Given the description of an element on the screen output the (x, y) to click on. 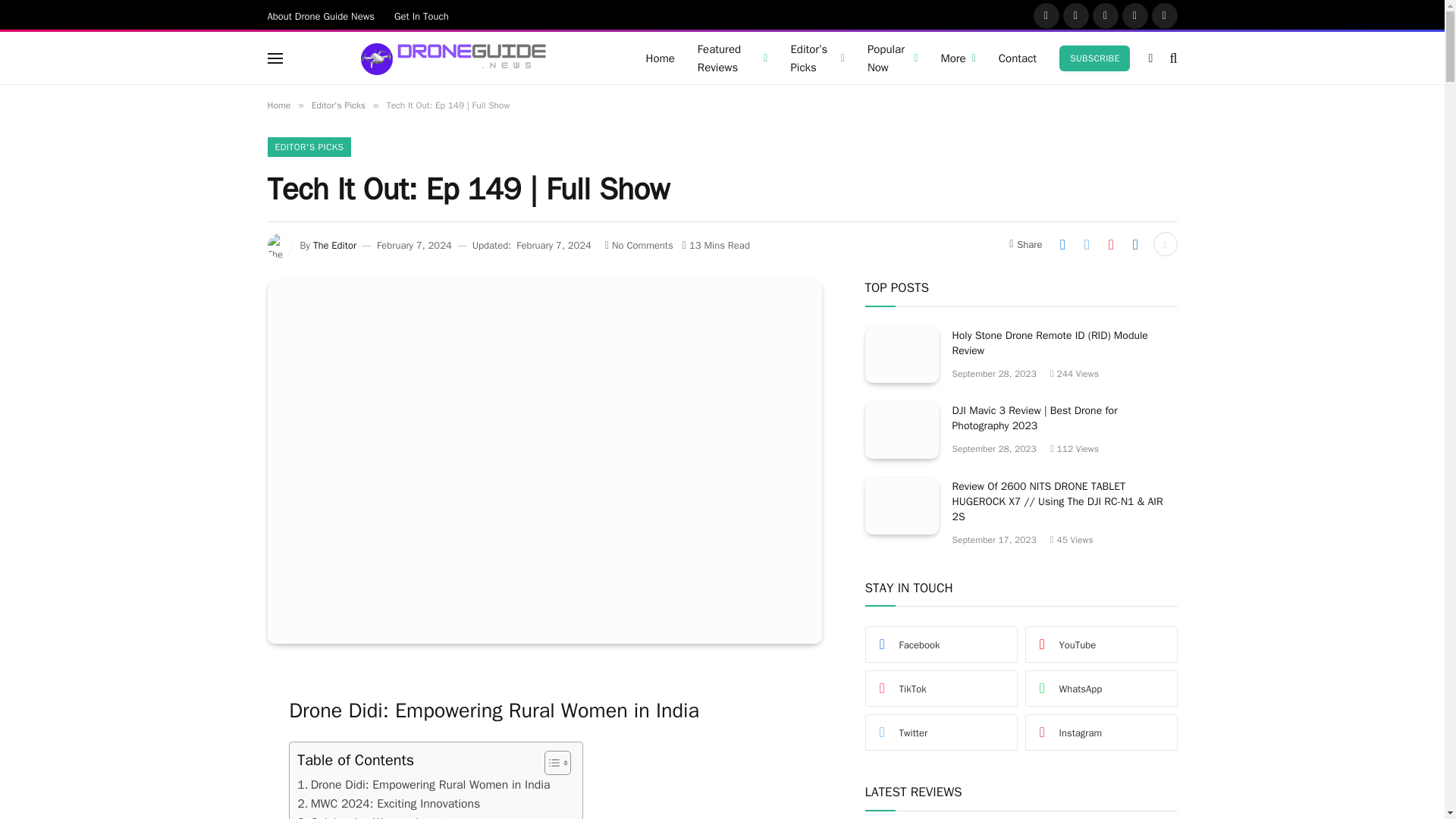
Pinterest (1135, 15)
Droneguide News (451, 58)
Facebook (1045, 15)
About Drone Guide News (321, 15)
Instagram (1105, 15)
Home (659, 57)
Get In Touch (421, 15)
Twitter (1075, 15)
Featured Reviews (731, 57)
Vimeo (1163, 15)
